Given the description of an element on the screen output the (x, y) to click on. 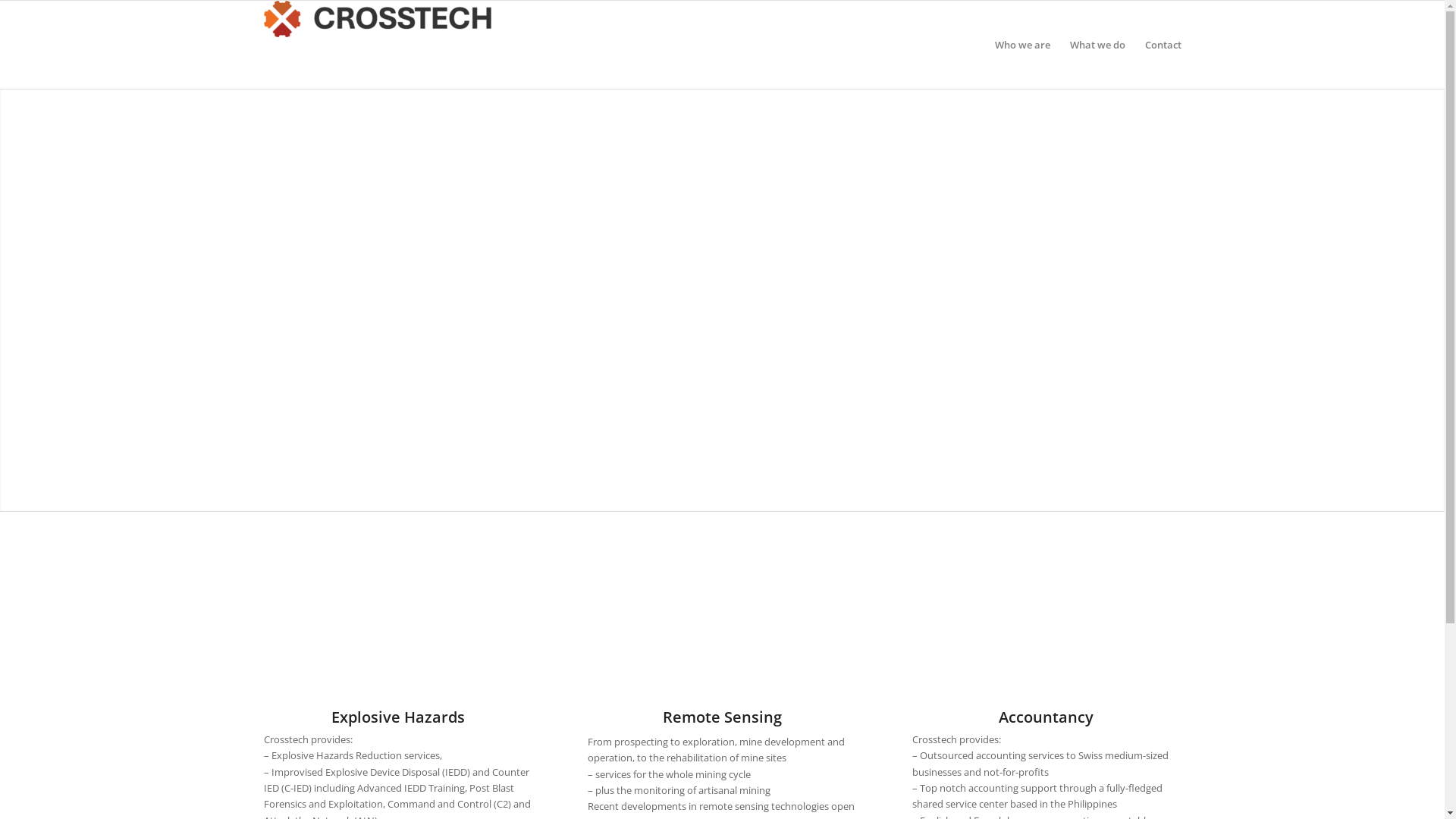
Who we are Element type: text (1021, 44)
Contact Element type: text (1157, 44)
What we do Element type: text (1097, 44)
